Given the description of an element on the screen output the (x, y) to click on. 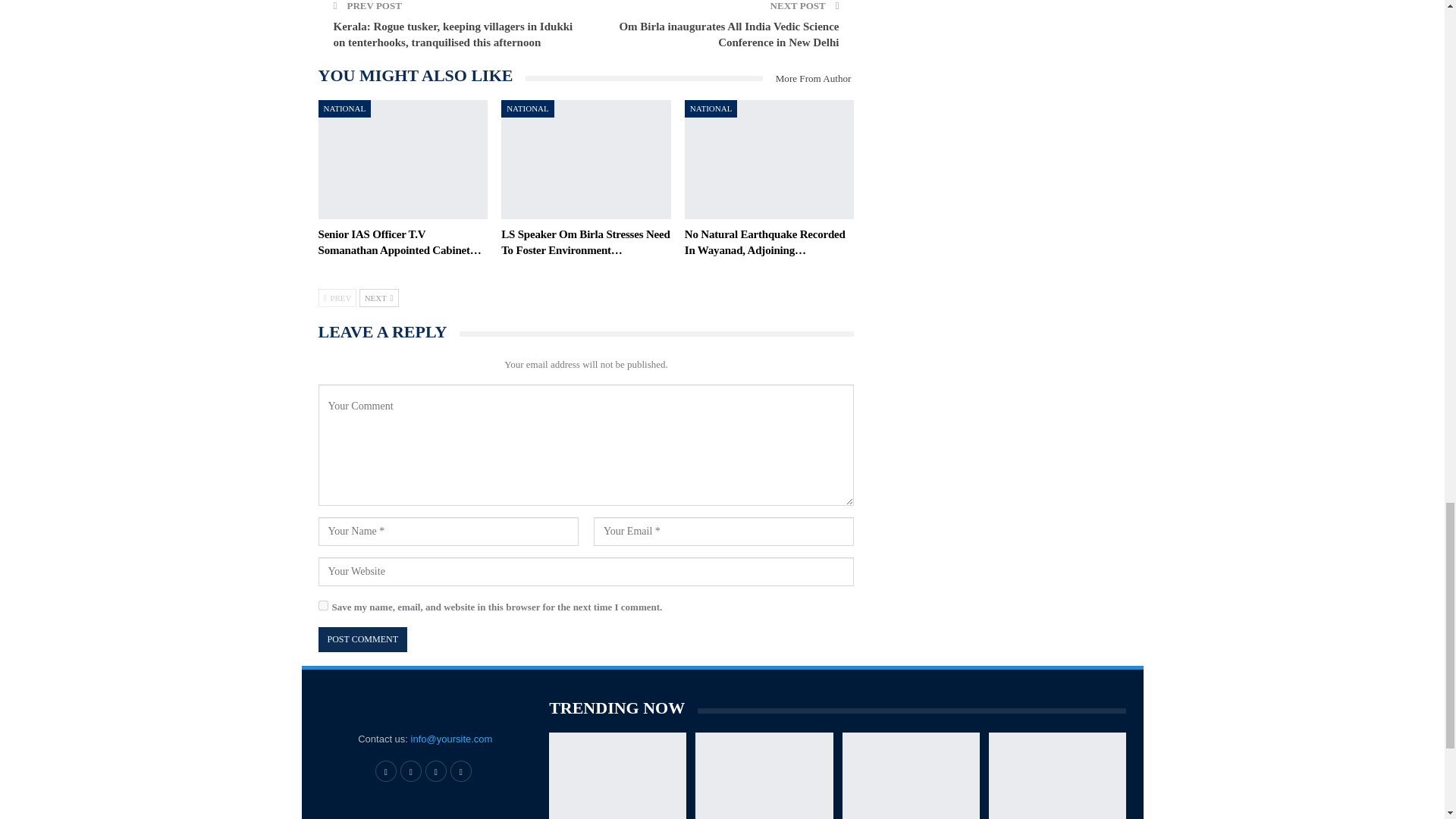
yes (323, 605)
Post Comment (362, 639)
